Given the description of an element on the screen output the (x, y) to click on. 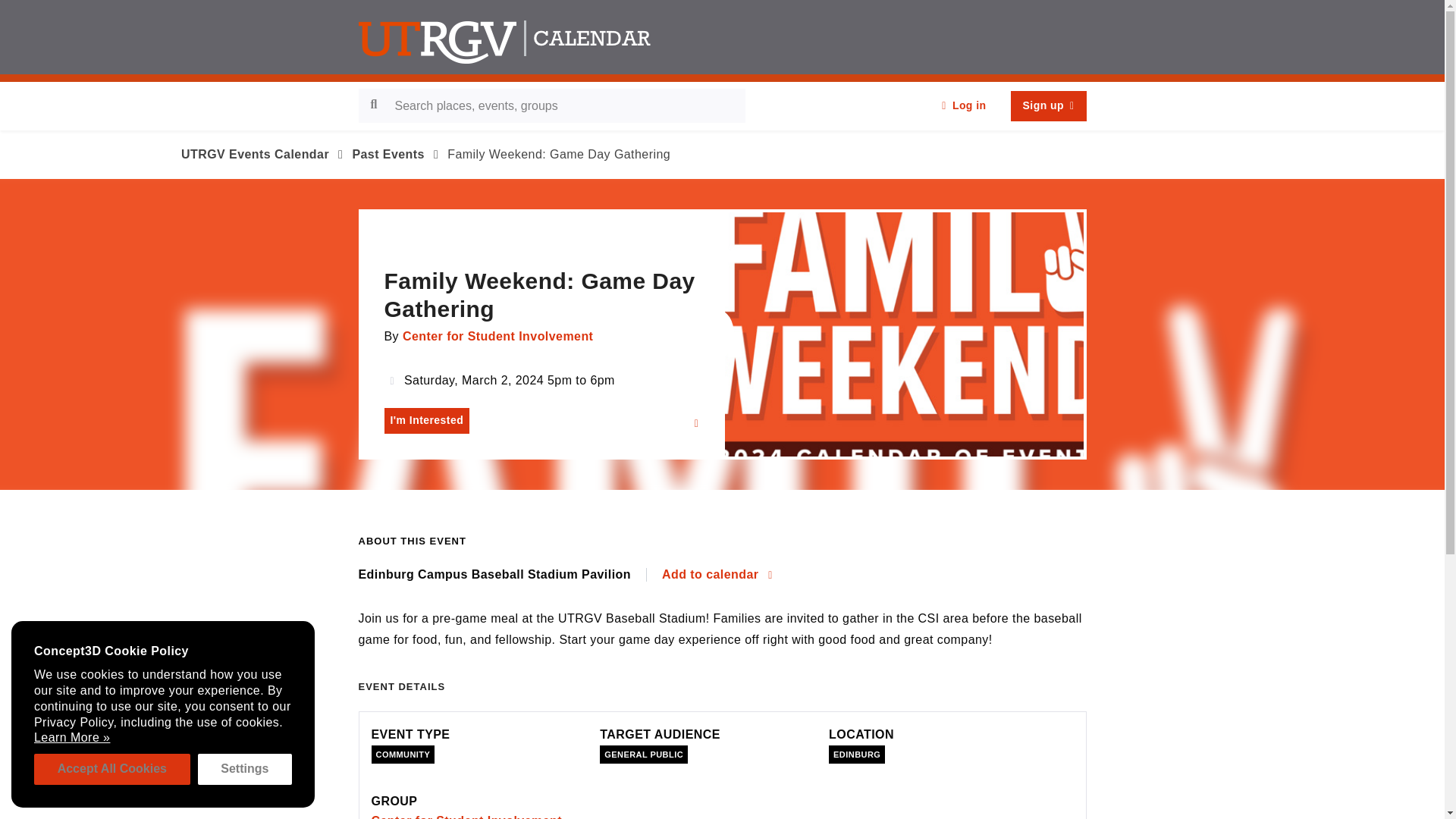
Add to calendar (717, 574)
UTRGV Events Calendar (254, 154)
Past Events (388, 154)
Sign up (1048, 105)
EDINBURG (856, 754)
I'm Interested (426, 420)
Center for Student Involvement (466, 816)
COMMUNITY (403, 754)
GENERAL PUBLIC (643, 754)
Log in (963, 105)
Center for Student Involvement (497, 336)
Share Family Weekend: Game Day Gathering (696, 423)
